Given the description of an element on the screen output the (x, y) to click on. 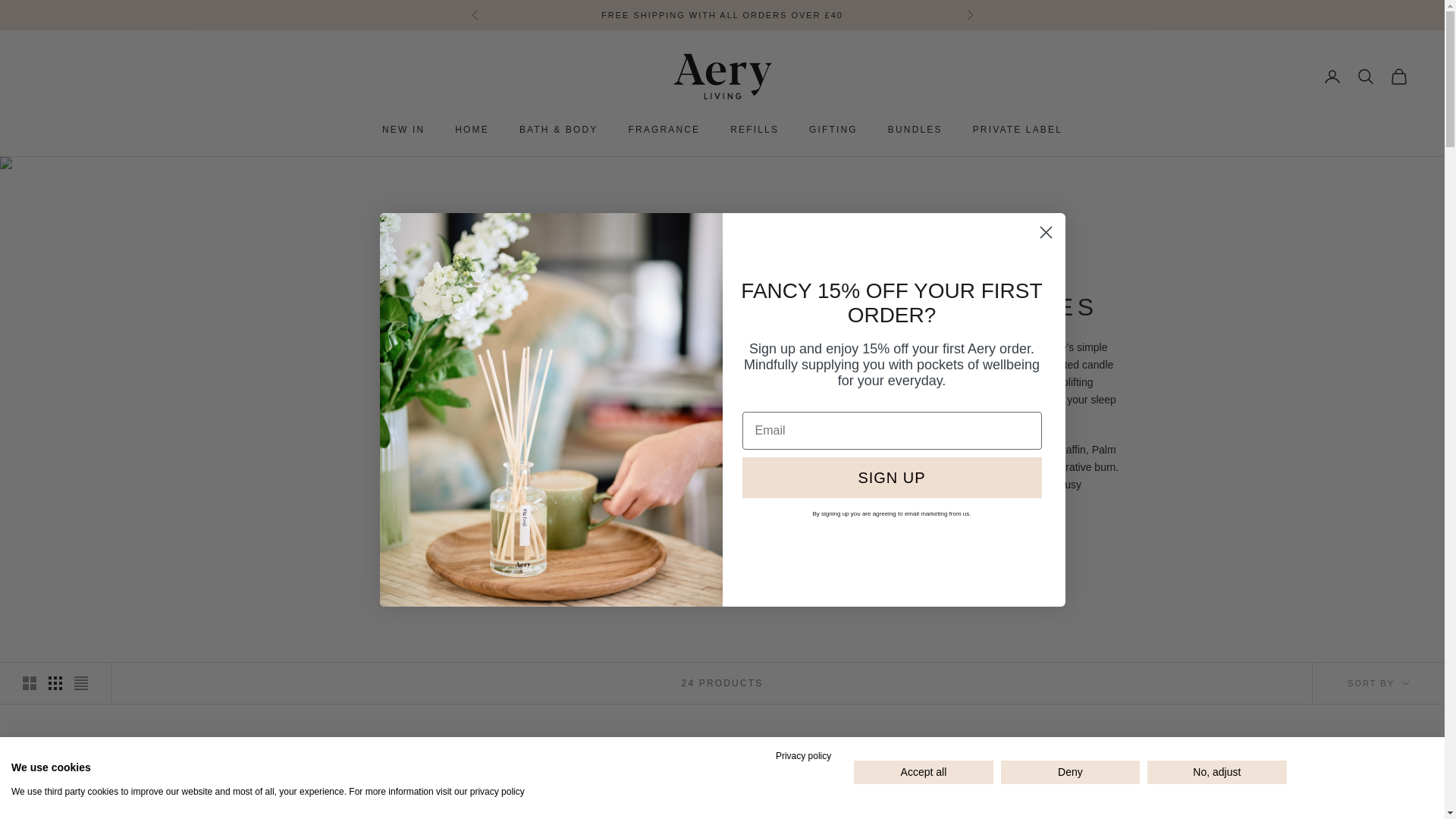
Aery Living (721, 76)
NEW IN (403, 129)
